Given the description of an element on the screen output the (x, y) to click on. 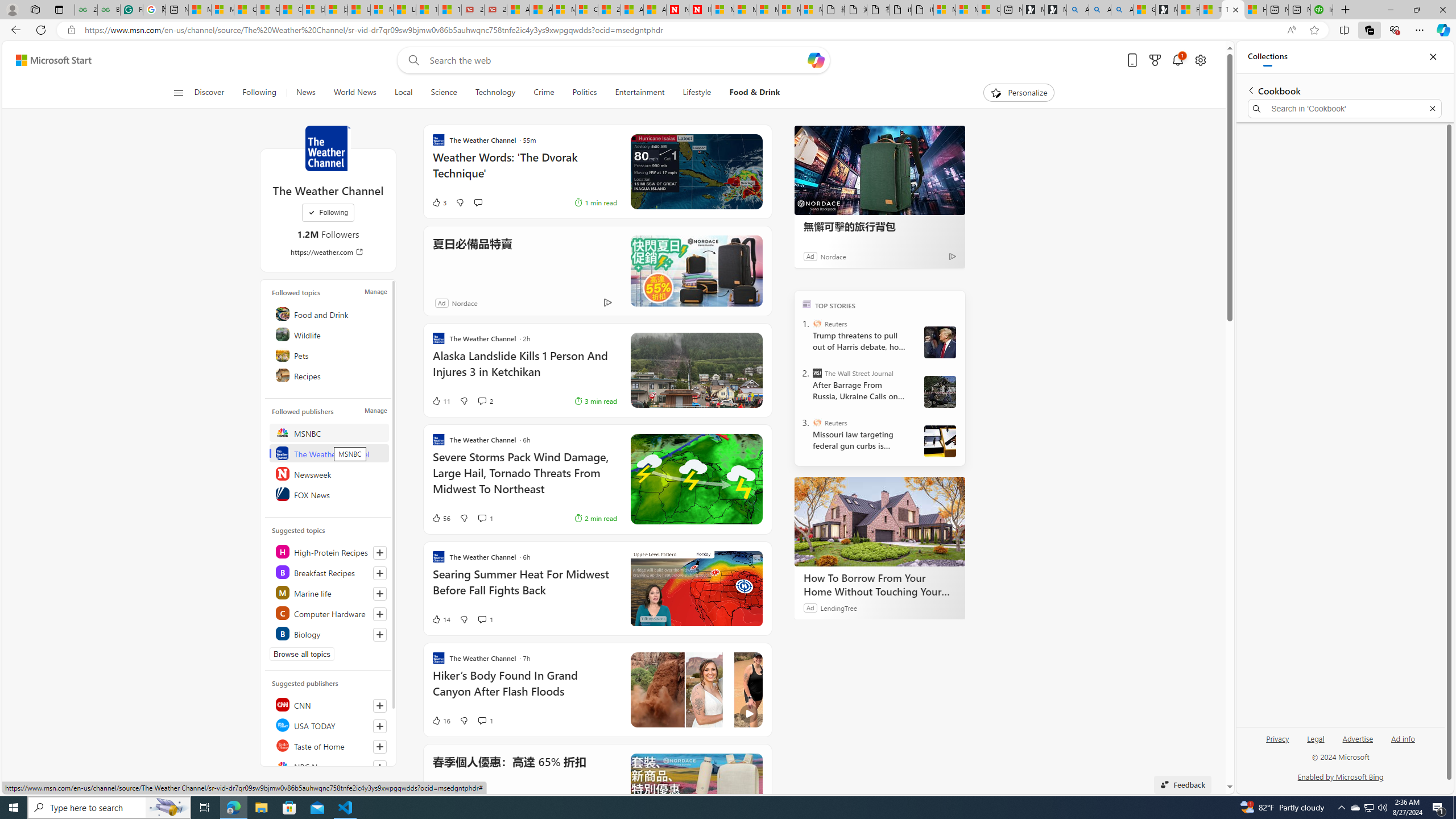
Cloud Computing Services | Microsoft Azure (586, 9)
How to Use a TV as a Computer Monitor (1255, 9)
Search in 'Cookbook' (1345, 108)
16 Like (440, 720)
The Weather Channel (328, 452)
Searing Summer Heat For Midwest Before Fall Fights Back (524, 587)
